Given the description of an element on the screen output the (x, y) to click on. 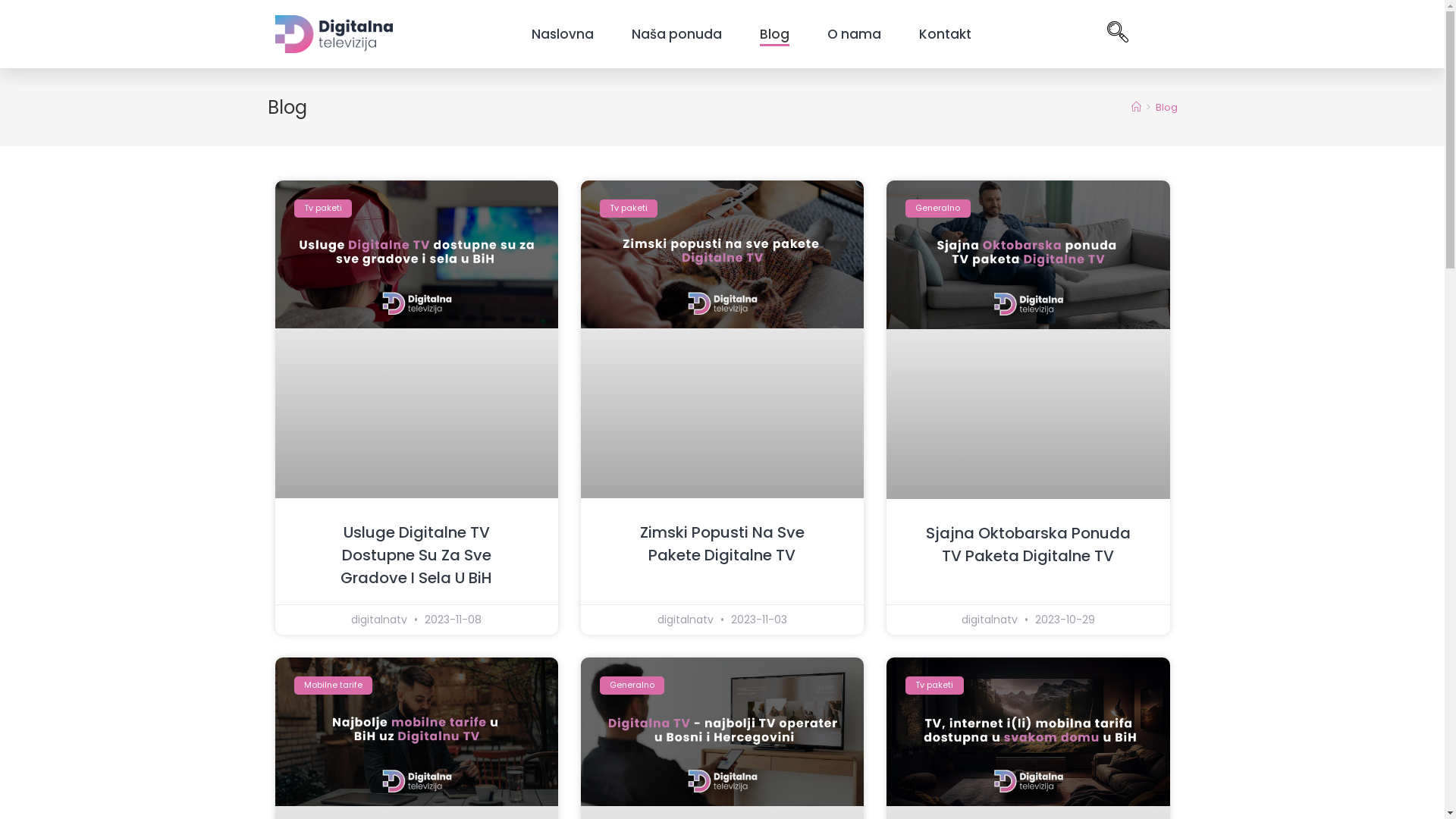
Usluge Digitalne TV Dostupne Su Za Sve Gradove I Sela U BiH Element type: text (416, 554)
Zimski Popusti Na Sve Pakete Digitalne TV Element type: text (722, 543)
Sjajna Oktobarska Ponuda TV Paketa Digitalne TV Element type: text (1027, 543)
Blog Element type: text (1166, 107)
O nama Element type: text (853, 33)
Kontakt Element type: text (945, 33)
Naslovna Element type: text (561, 33)
Blog Element type: text (774, 33)
